Given the description of an element on the screen output the (x, y) to click on. 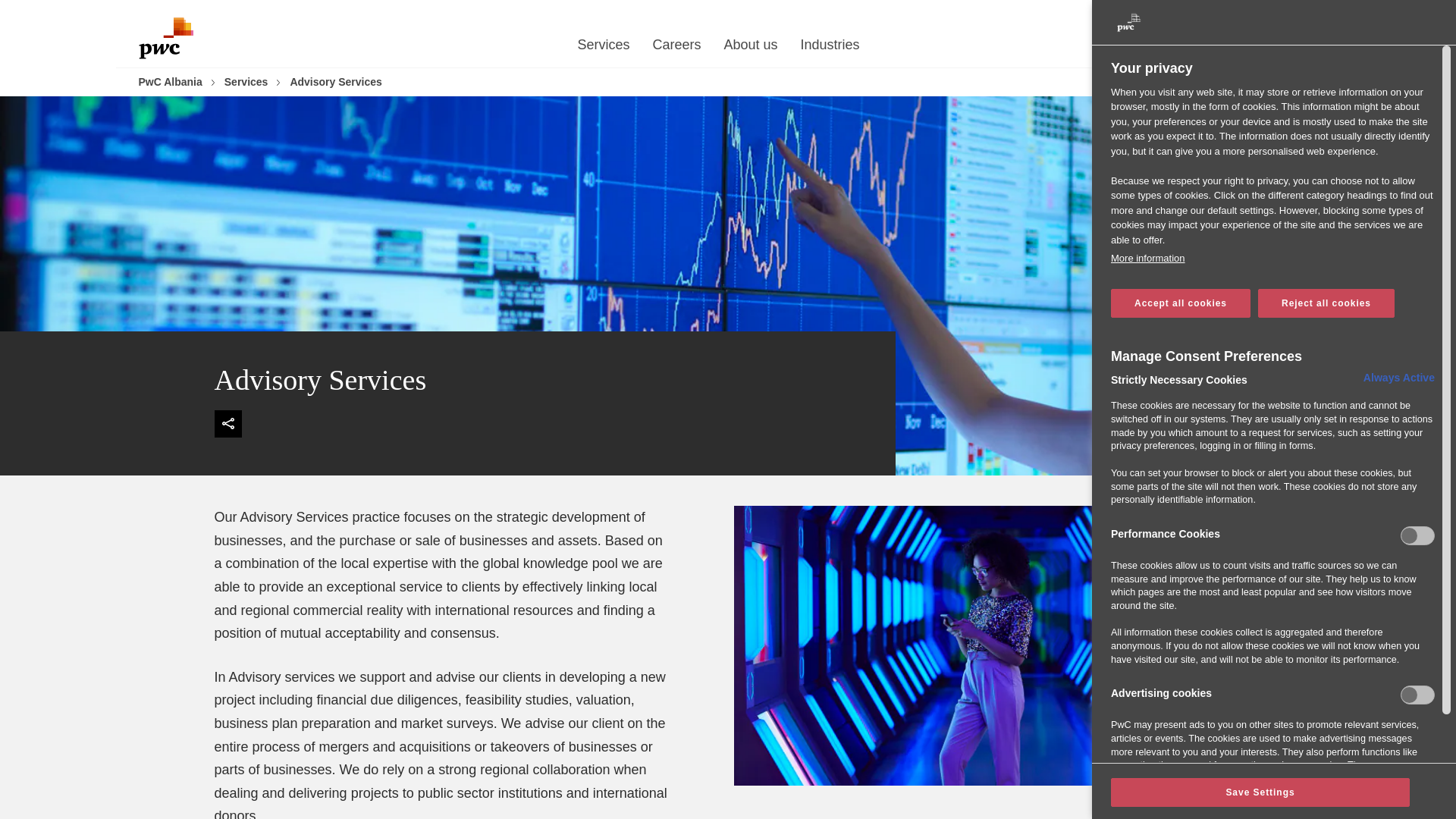
Careers (676, 49)
Industries (830, 49)
About us (750, 49)
Albania (1271, 13)
Services (602, 49)
